Given the description of an element on the screen output the (x, y) to click on. 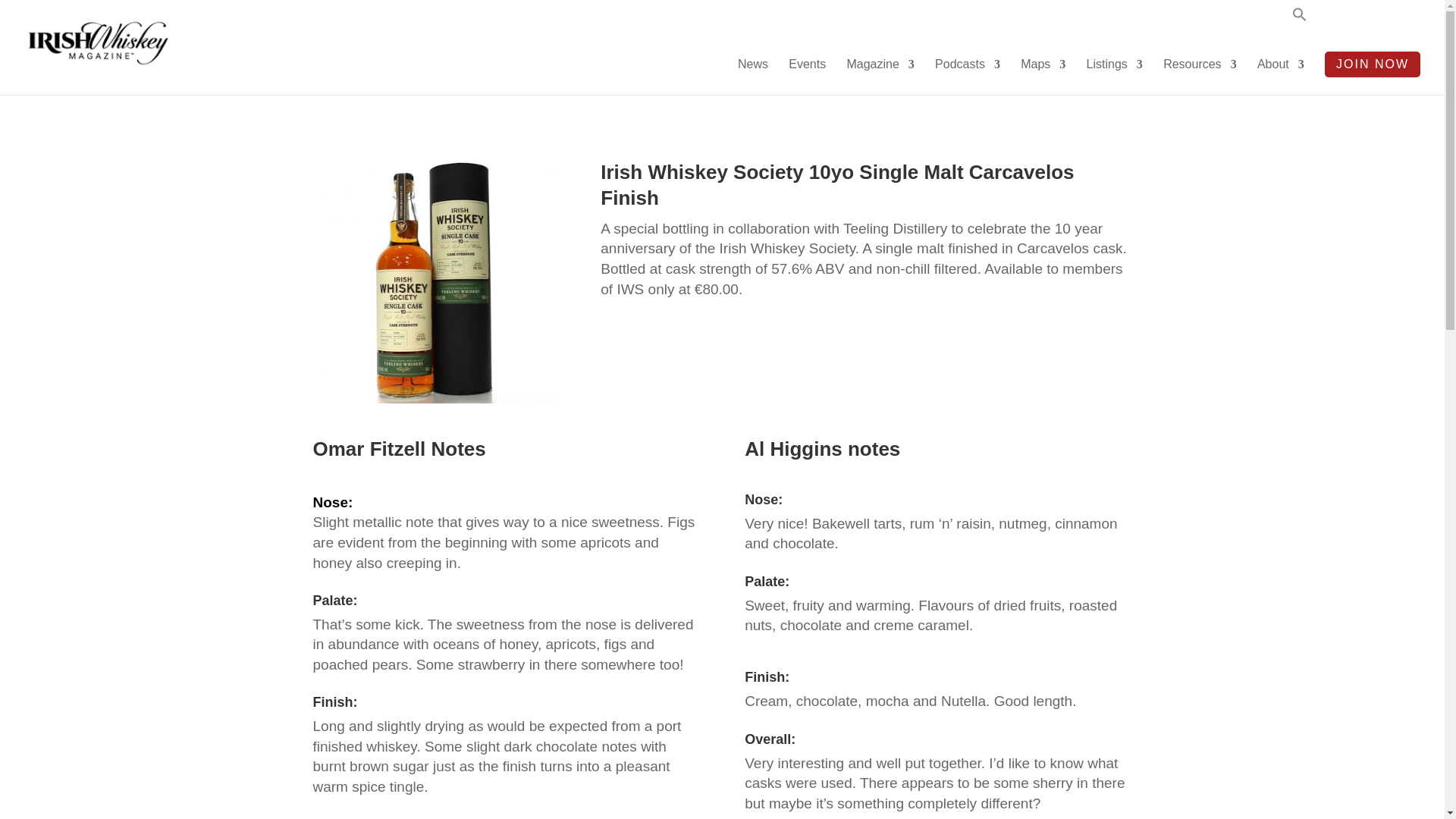
Page 25 (505, 552)
Podcasts (967, 76)
Register (1404, 18)
Events (807, 76)
Maps (1042, 76)
Login (1347, 18)
Magazine (879, 76)
About (1280, 76)
Listings (1114, 76)
